Given the description of an element on the screen output the (x, y) to click on. 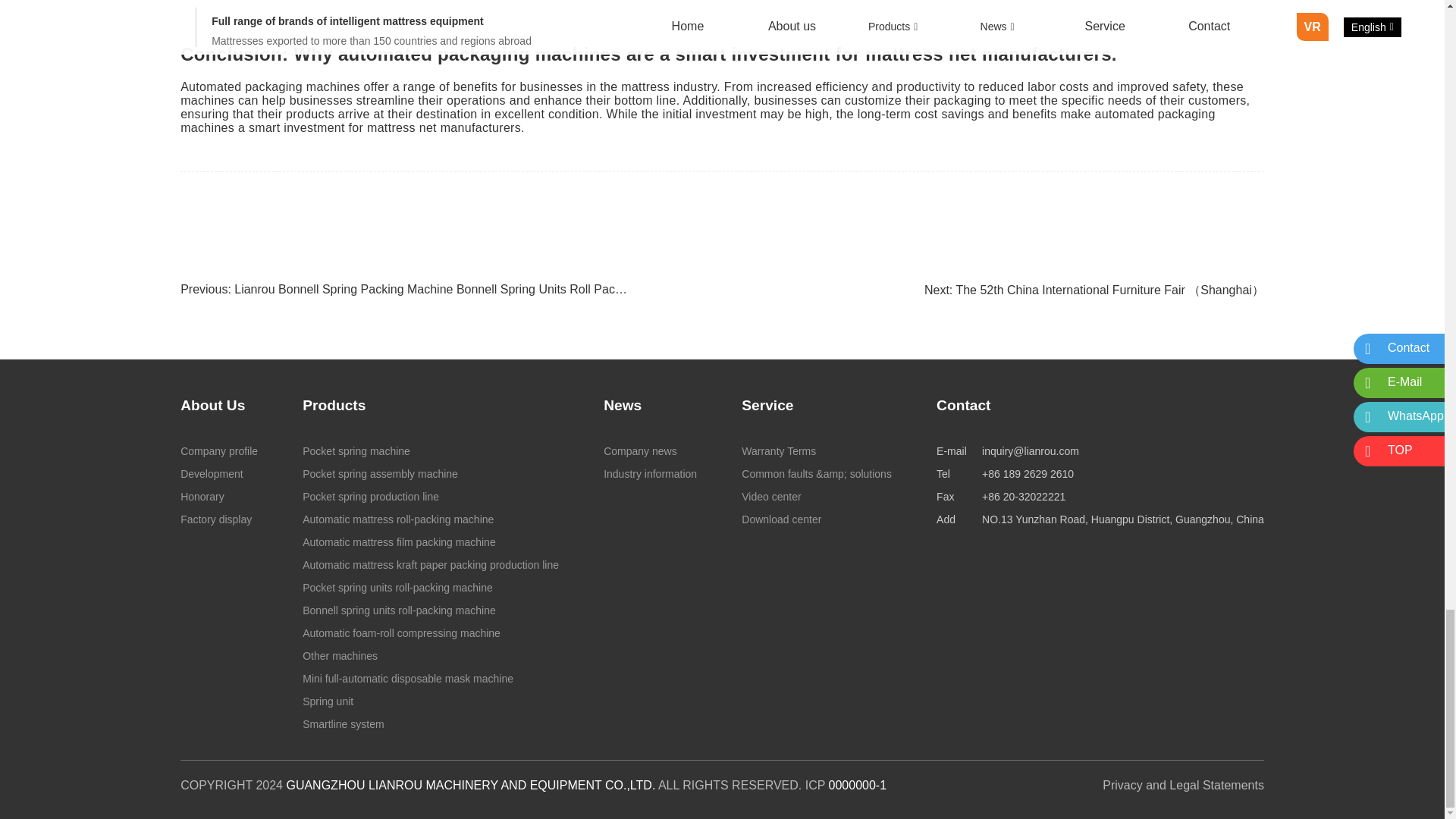
Industry information (650, 473)
Automatic mattress kraft paper packing production line (430, 564)
Company news (650, 450)
About Us (212, 405)
Pocket spring machine (430, 450)
Development (218, 473)
Factory display (218, 518)
Automatic mattress film packing machine (430, 541)
Other machines (430, 655)
Spring unit (430, 701)
Pocket spring assembly machine (430, 473)
Automatic mattress roll-packing machine (430, 518)
Automatic foam-roll compressing machine (430, 632)
Pocket spring production line (430, 496)
Honorary (218, 496)
